Given the description of an element on the screen output the (x, y) to click on. 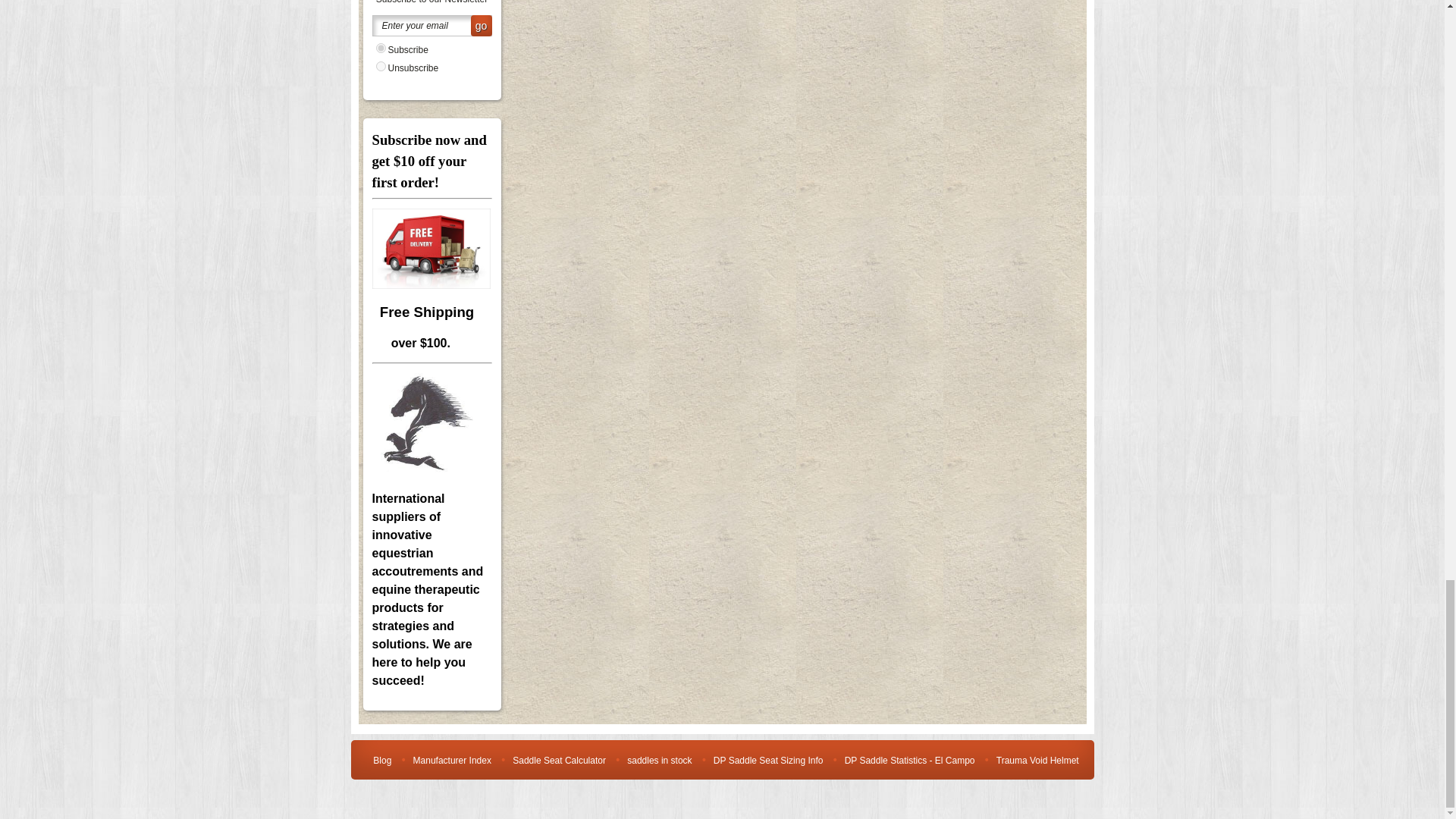
0 (380, 66)
go (481, 25)
Enter your email (431, 25)
1 (380, 48)
